Given the description of an element on the screen output the (x, y) to click on. 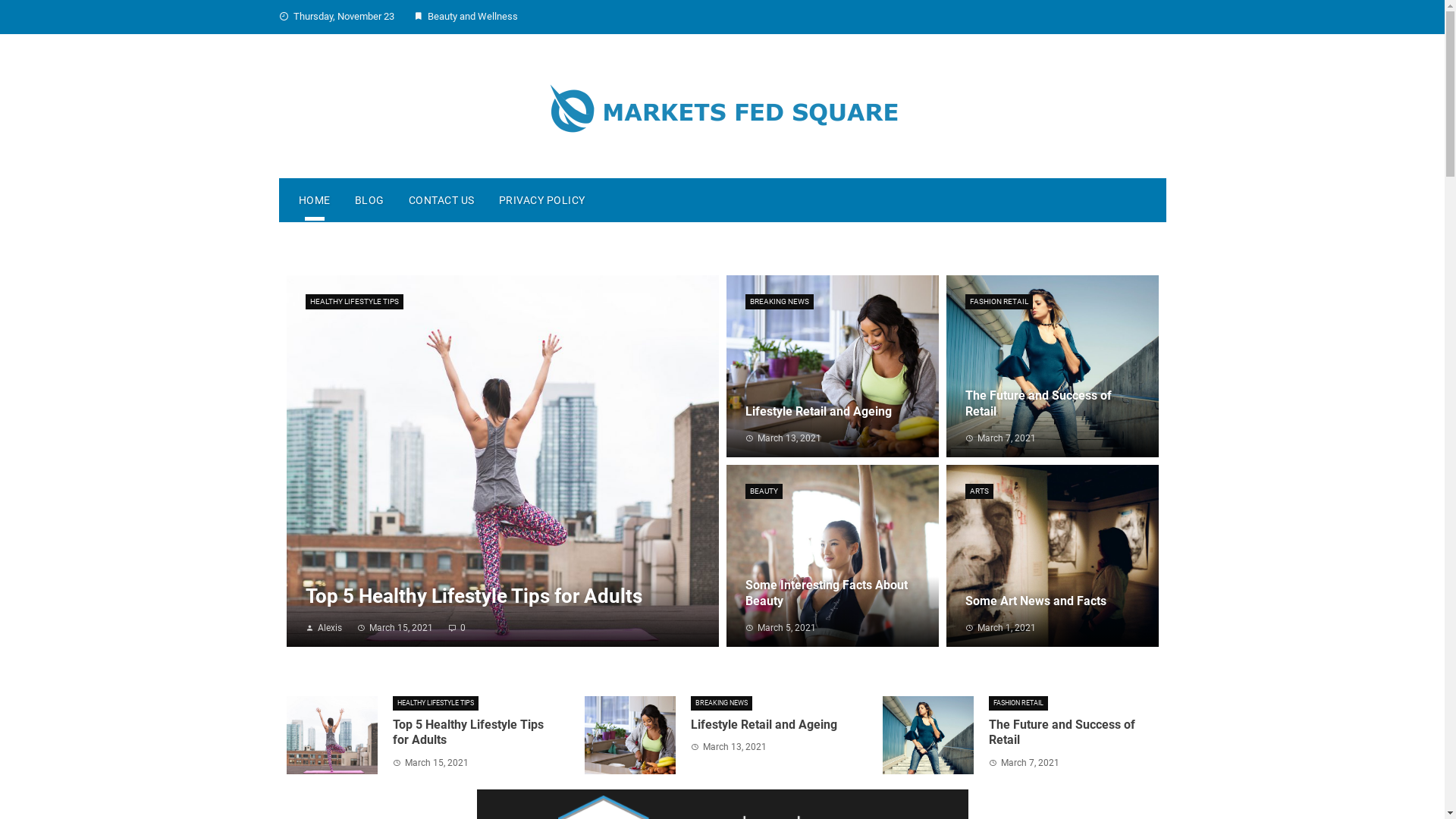
Lifestyle Retail and Ageing Element type: text (763, 724)
HEALTHY LIFESTYLE TIPS Element type: text (353, 301)
BREAKING NEWS Element type: text (778, 301)
BEAUTY Element type: text (762, 490)
HEALTHY LIFESTYLE TIPS Element type: text (435, 703)
Top 5 Healthy Lifestyle Tips for Adults Element type: text (467, 732)
ARTS Element type: text (978, 490)
Some Art News and Facts
March 1, 2021 Element type: text (1052, 610)
HOME Element type: text (314, 200)
CONTACT US Element type: text (440, 200)
The Future and Success of Retail Element type: text (1061, 732)
Some Interesting Facts About Beauty
March 5, 2021 Element type: text (832, 602)
Lifestyle Retail and Ageing
March 13, 2021 Element type: text (832, 421)
PRIVACY POLICY Element type: text (541, 200)
FASHION RETAIL Element type: text (1018, 703)
FASHION RETAIL Element type: text (998, 301)
The Future and Success of Retail
March 7, 2021 Element type: text (1052, 413)
BREAKING NEWS Element type: text (721, 703)
BLOG Element type: text (369, 200)
